Given the description of an element on the screen output the (x, y) to click on. 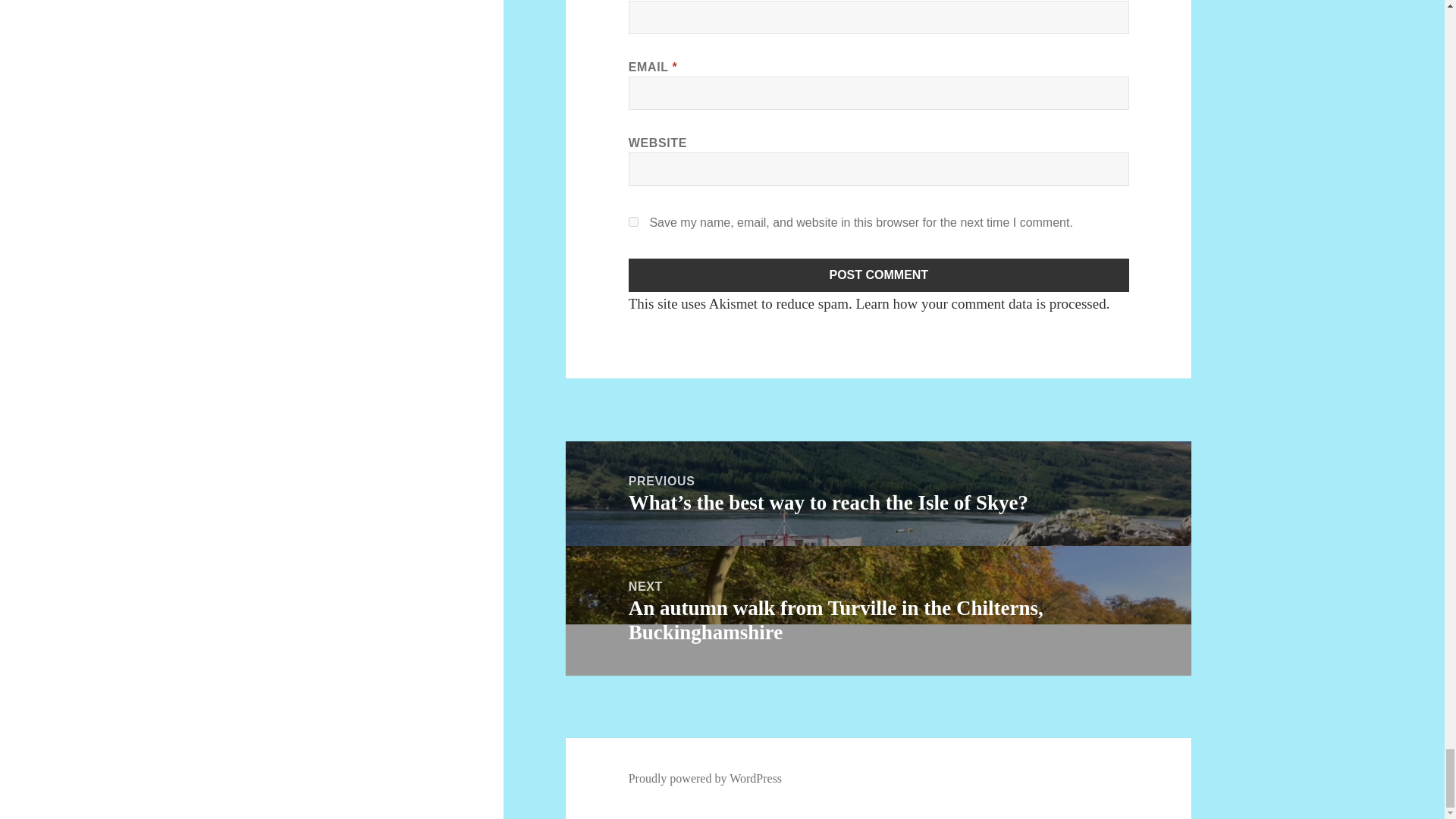
Post Comment (878, 274)
yes (633, 221)
